Given the description of an element on the screen output the (x, y) to click on. 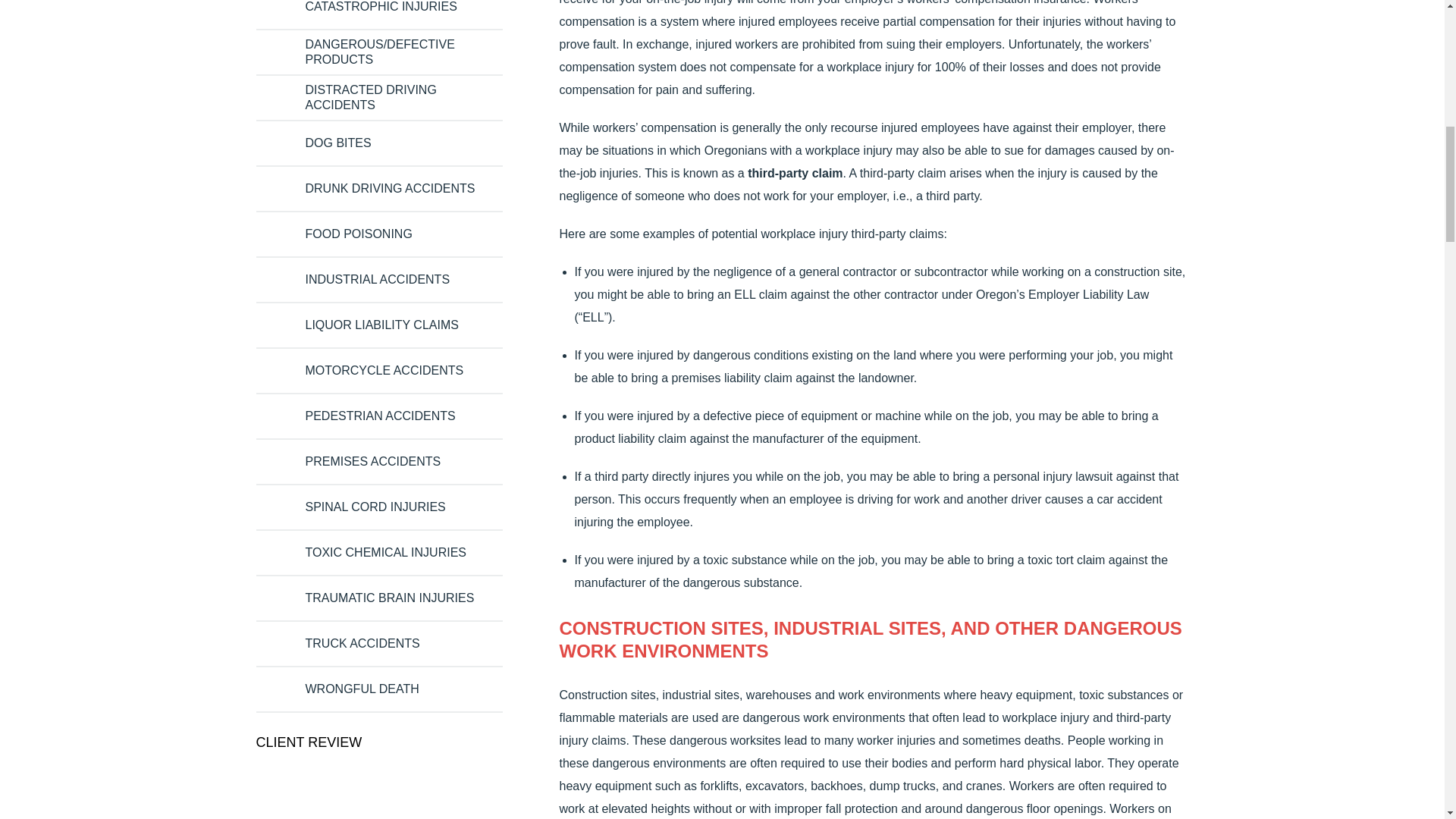
LIQUOR LIABILITY CLAIMS (381, 324)
DRUNK DRIVING ACCIDENTS (389, 188)
CATASTROPHIC INJURIES (380, 7)
PEDESTRIAN ACCIDENTS (379, 416)
DISTRACTED DRIVING ACCIDENTS (395, 97)
INDUSTRIAL ACCIDENTS (376, 279)
FOOD POISONING (358, 233)
PREMISES ACCIDENTS (372, 461)
TRAUMATIC BRAIN INJURIES (389, 598)
MOTORCYCLE ACCIDENTS (383, 370)
